Given the description of an element on the screen output the (x, y) to click on. 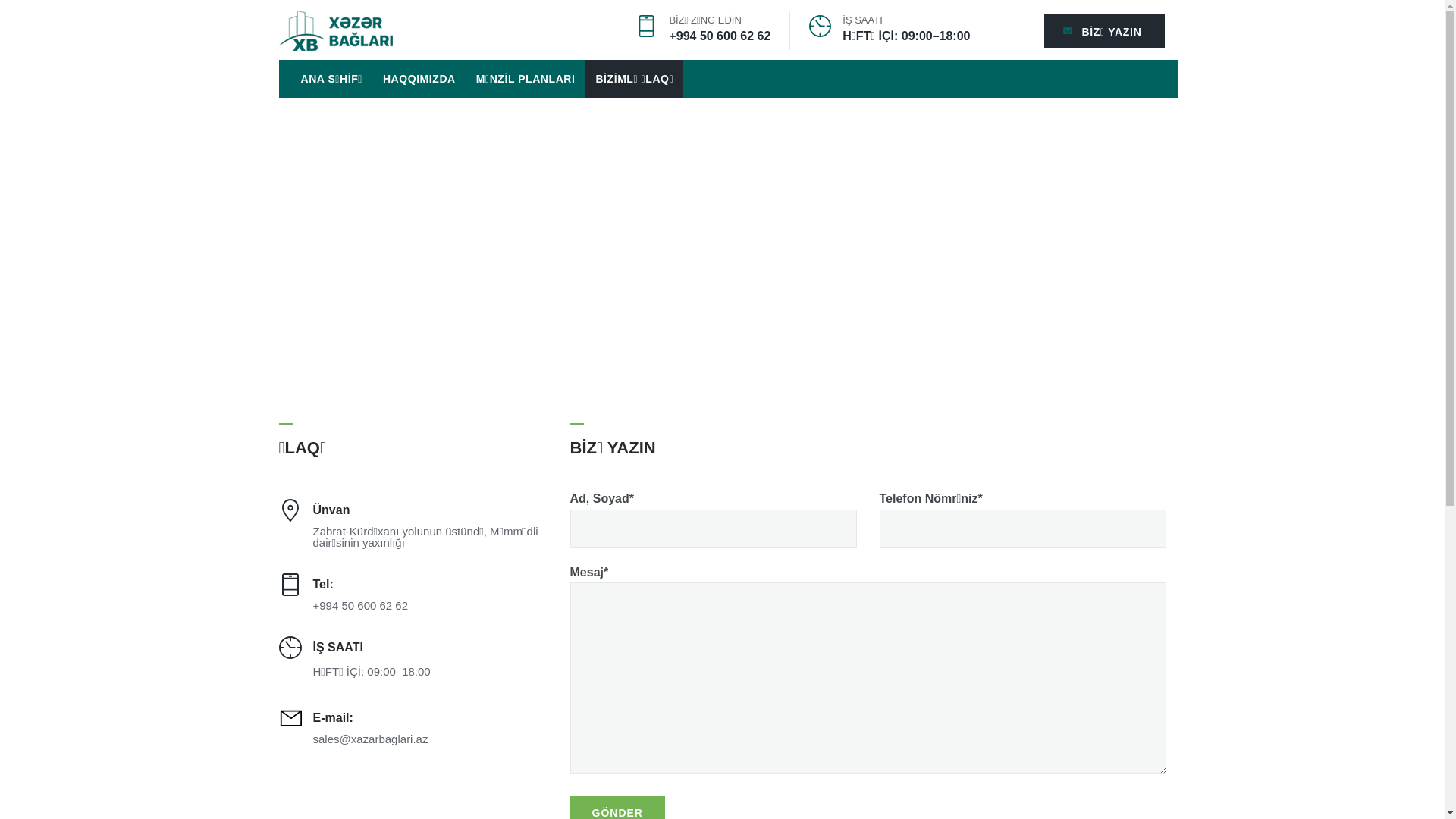
+994 50 600 62 62 Element type: text (359, 605)
sales@xazarbaglari.az Element type: text (369, 738)
+994 50 600 62 62 Element type: text (719, 34)
40.514882, 49.939867 Element type: hover (722, 256)
HAQQIMIZDA Element type: text (418, 78)
